Given the description of an element on the screen output the (x, y) to click on. 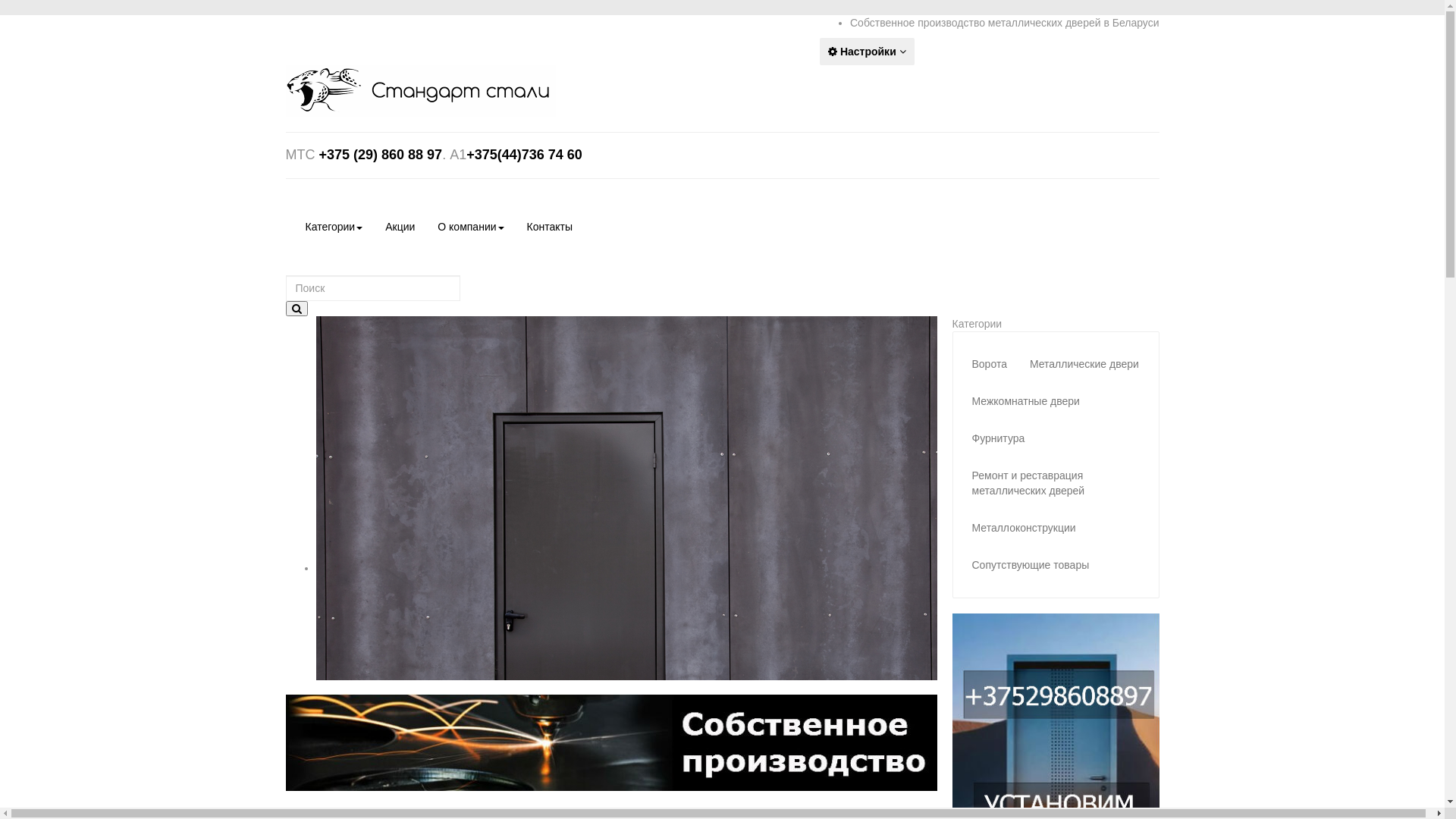
+375 (29) 860 88 97 Element type: text (378, 154)
Banner Tiger Element type: hover (610, 742)
+375(44)736 74 60 Element type: text (524, 154)
